Given the description of an element on the screen output the (x, y) to click on. 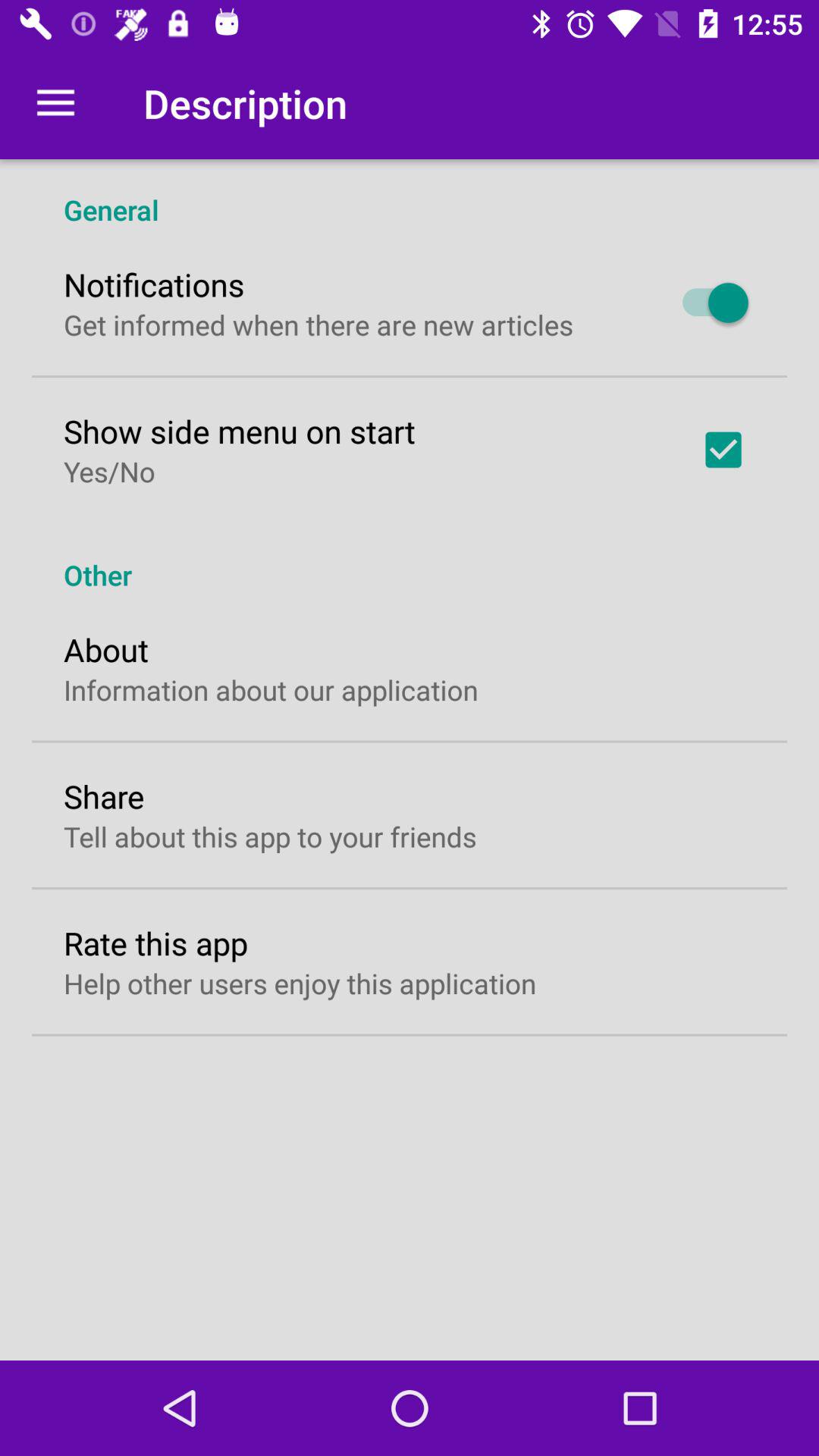
press icon below rate this app (299, 983)
